Given the description of an element on the screen output the (x, y) to click on. 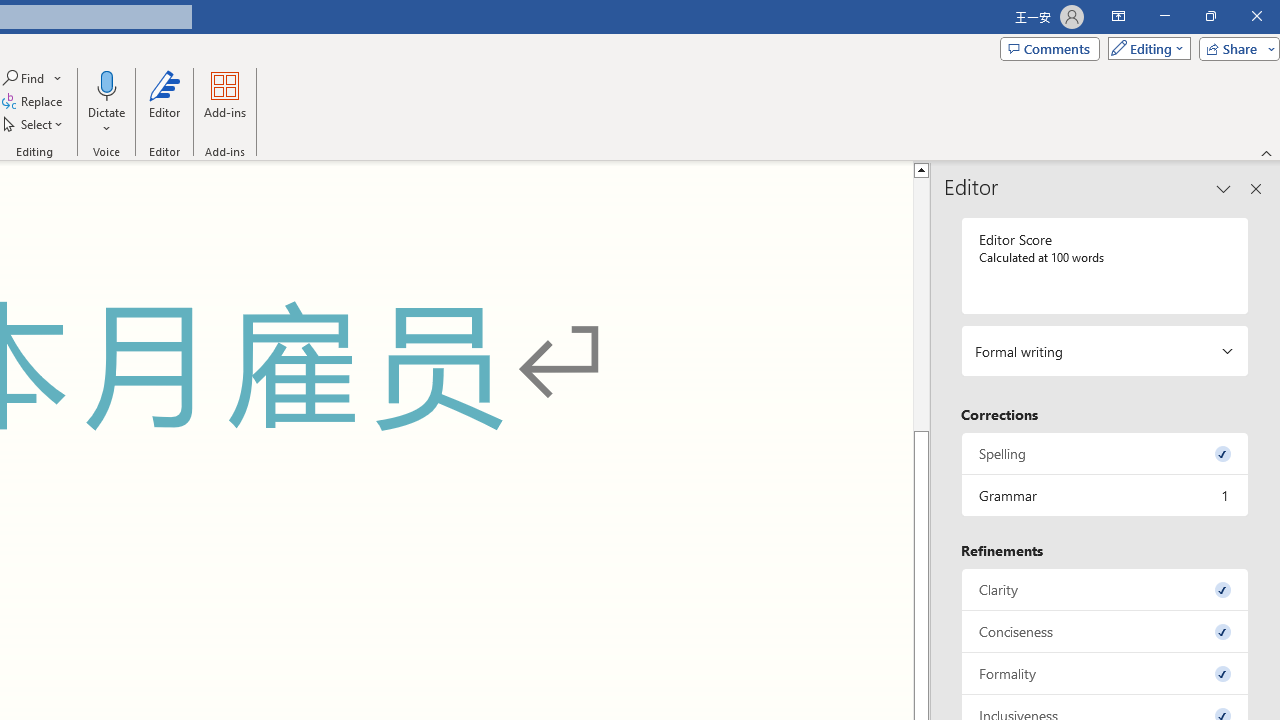
Formality, 0 issues. Press space or enter to review items. (1105, 673)
Editor (164, 102)
Clarity, 0 issues. Press space or enter to review items. (1105, 588)
Line up (921, 169)
